Given the description of an element on the screen output the (x, y) to click on. 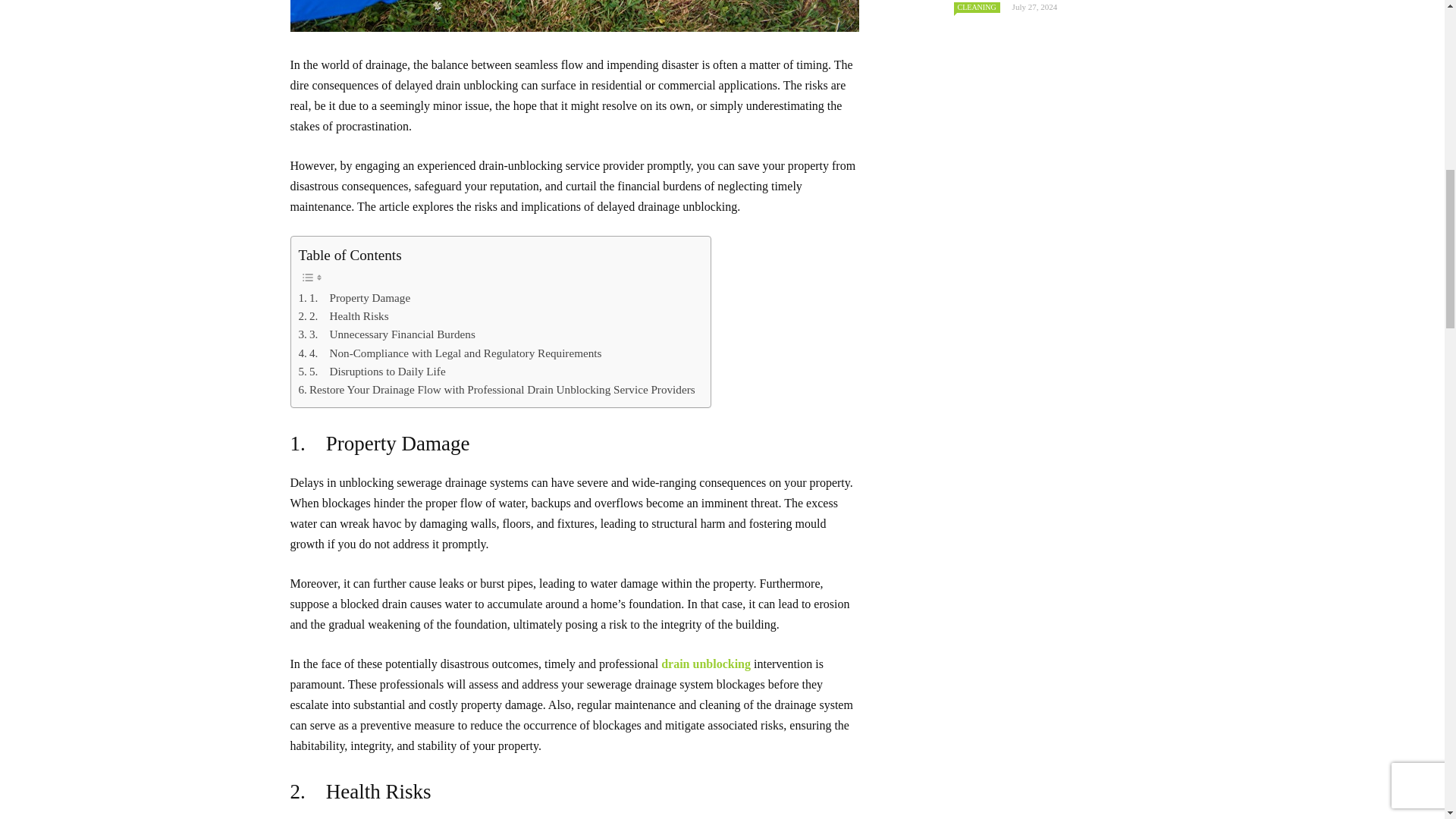
5.    Disruptions to Daily Life (371, 371)
drain unblocking (706, 663)
2.    Health Risks (343, 316)
4.    Non-Compliance with Legal and Regulatory Requirements (450, 352)
